Given the description of an element on the screen output the (x, y) to click on. 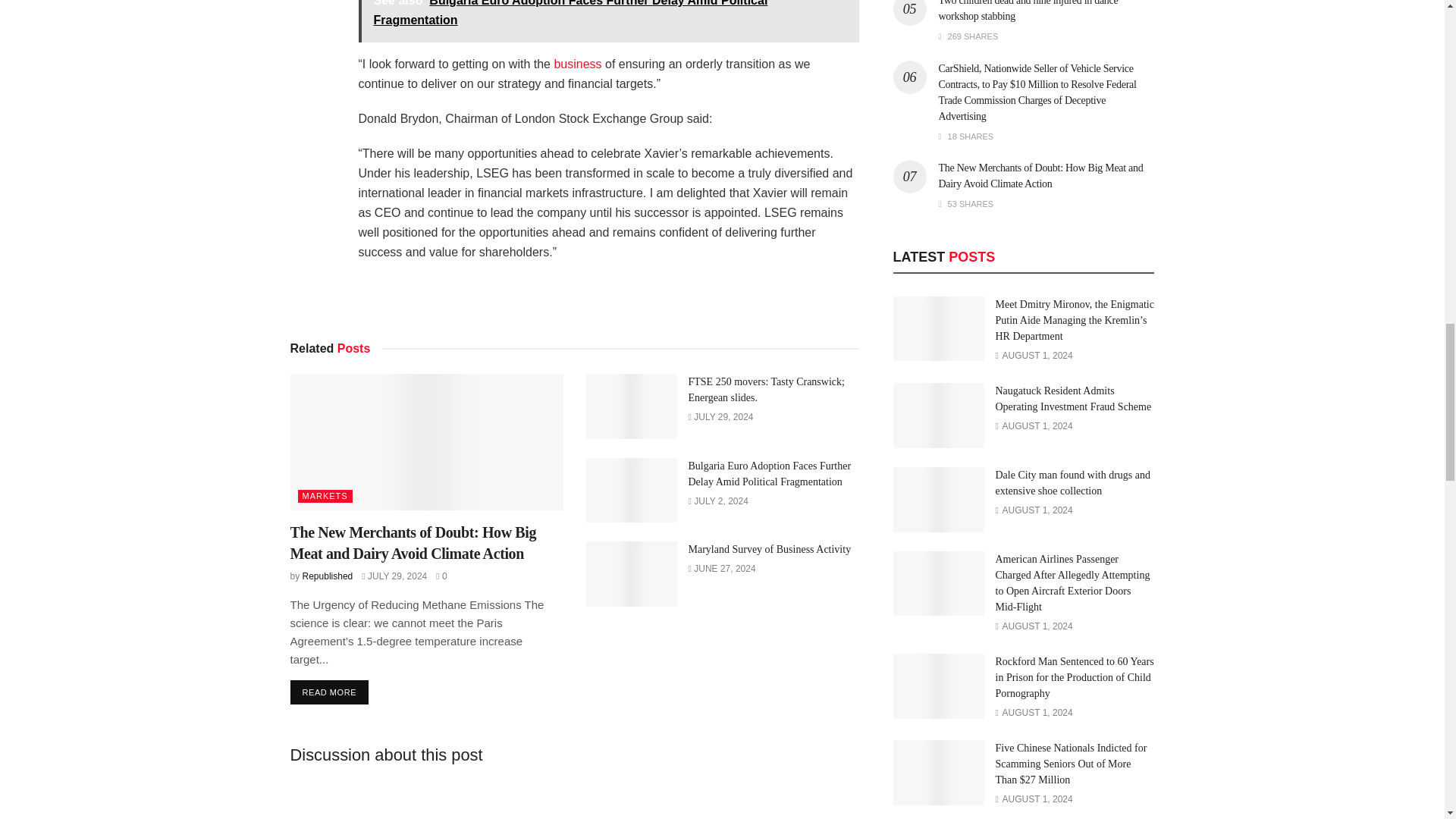
Business (577, 63)
